Given the description of an element on the screen output the (x, y) to click on. 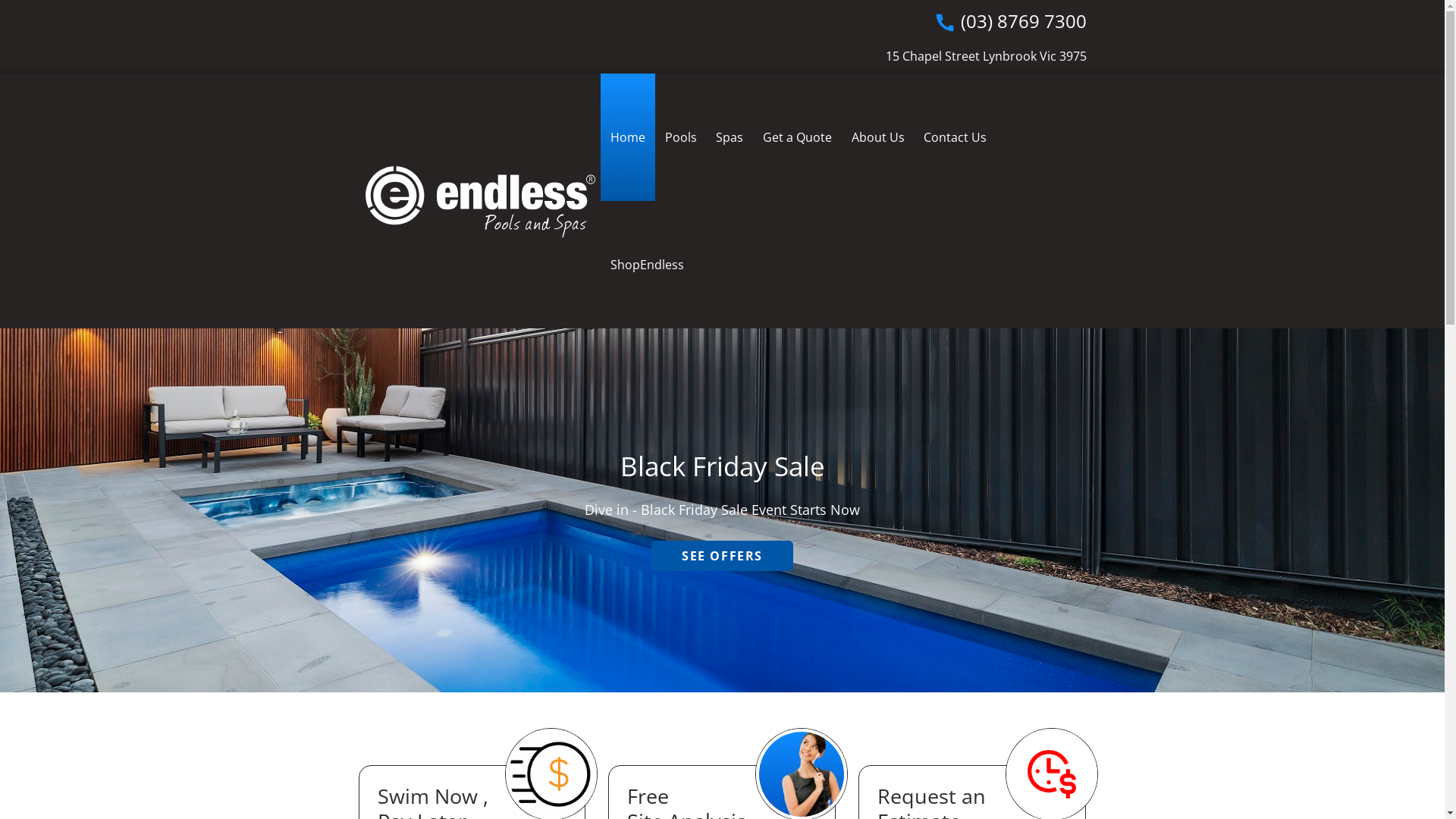
Contact Us Element type: text (954, 136)
About Us Element type: text (877, 136)
ShopEndless Element type: text (646, 264)
Home Element type: text (627, 136)
Get a Quote Element type: text (797, 136)
Return to homepage Element type: hover (478, 200)
Spas Element type: text (729, 136)
SEE OFFERS Element type: text (722, 555)
Pools Element type: text (680, 136)
